Given the description of an element on the screen output the (x, y) to click on. 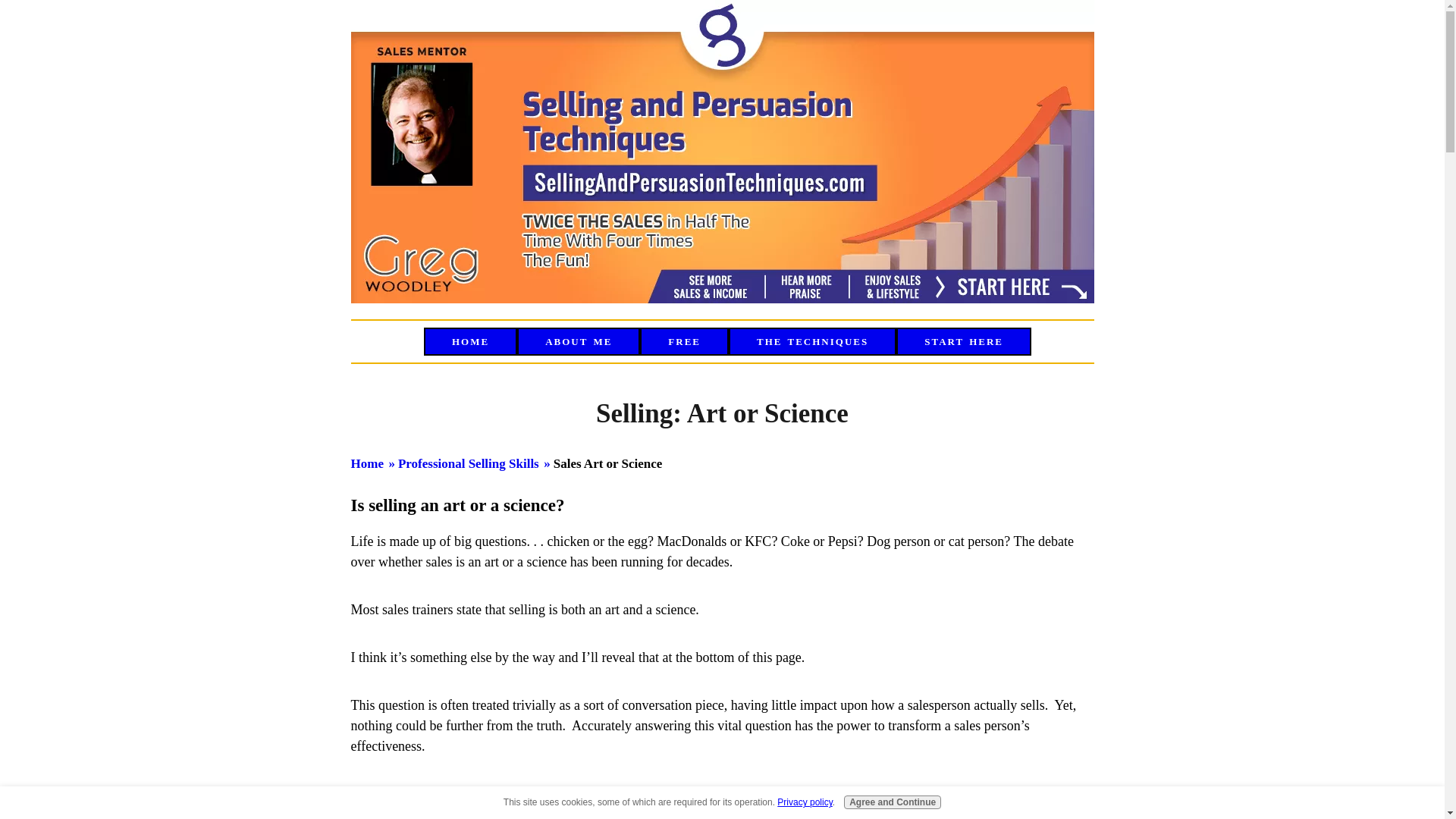
Home (366, 463)
HOME (470, 341)
Professional Selling Skills (467, 463)
